Given the description of an element on the screen output the (x, y) to click on. 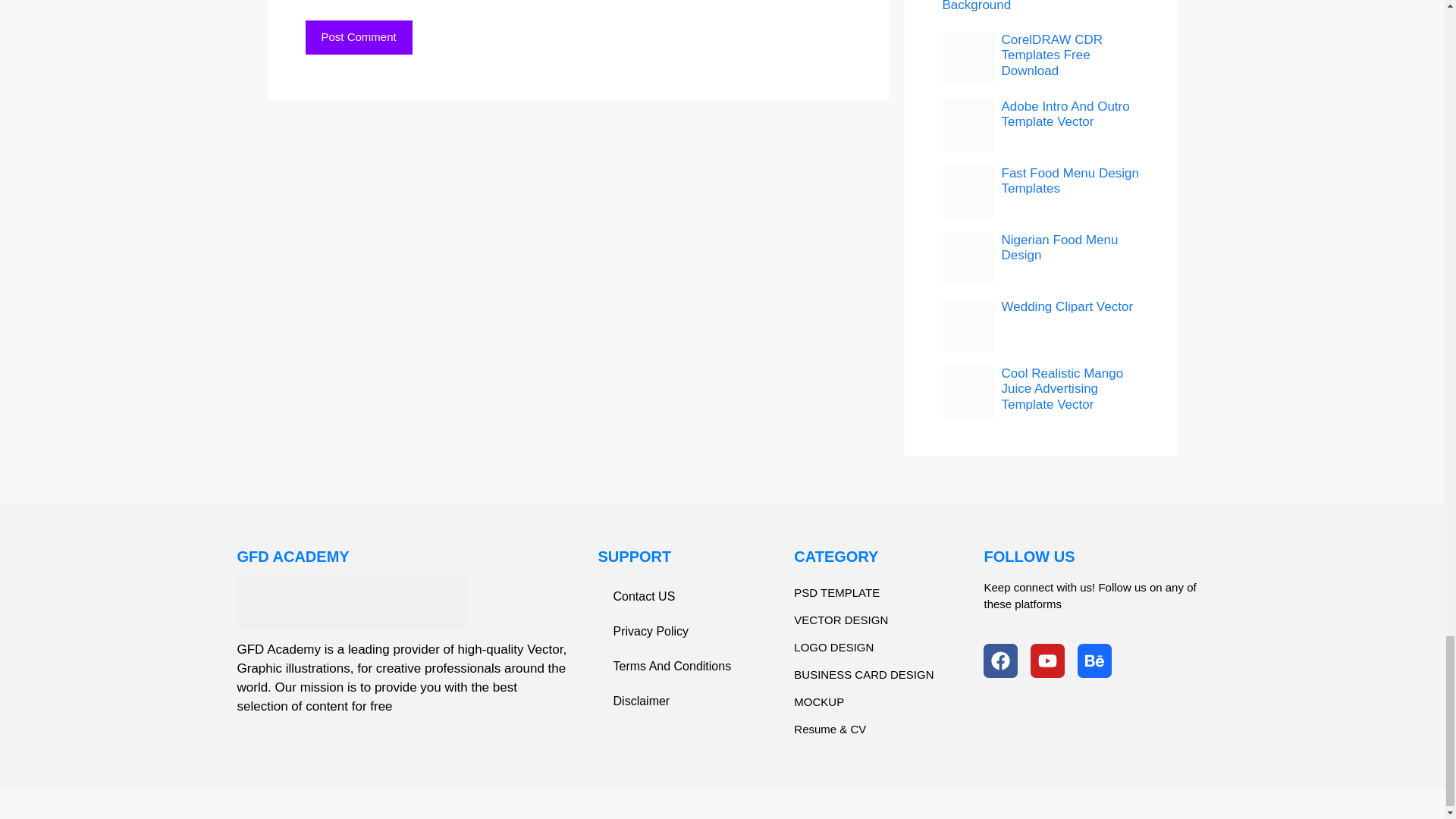
Post Comment (358, 37)
